Given the description of an element on the screen output the (x, y) to click on. 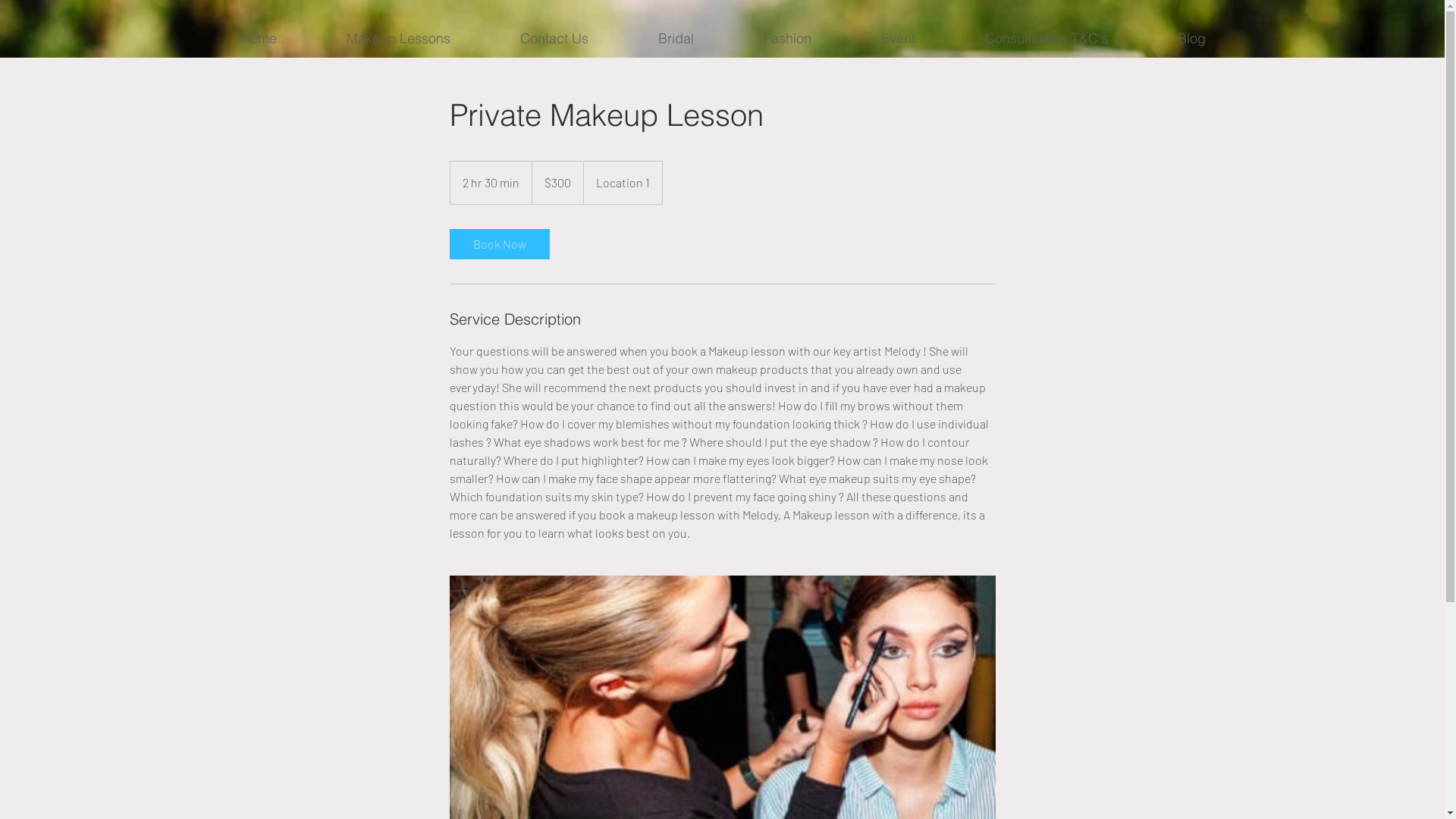
Bridal Element type: text (675, 38)
Contact Us Element type: text (554, 38)
Consultations T&C's Element type: text (1045, 38)
Book Now Element type: text (498, 244)
Event Element type: text (898, 38)
Makeup Lessons Element type: text (397, 38)
Blog Element type: text (1190, 38)
Fashion Element type: text (786, 38)
Home Element type: text (257, 38)
